Given the description of an element on the screen output the (x, y) to click on. 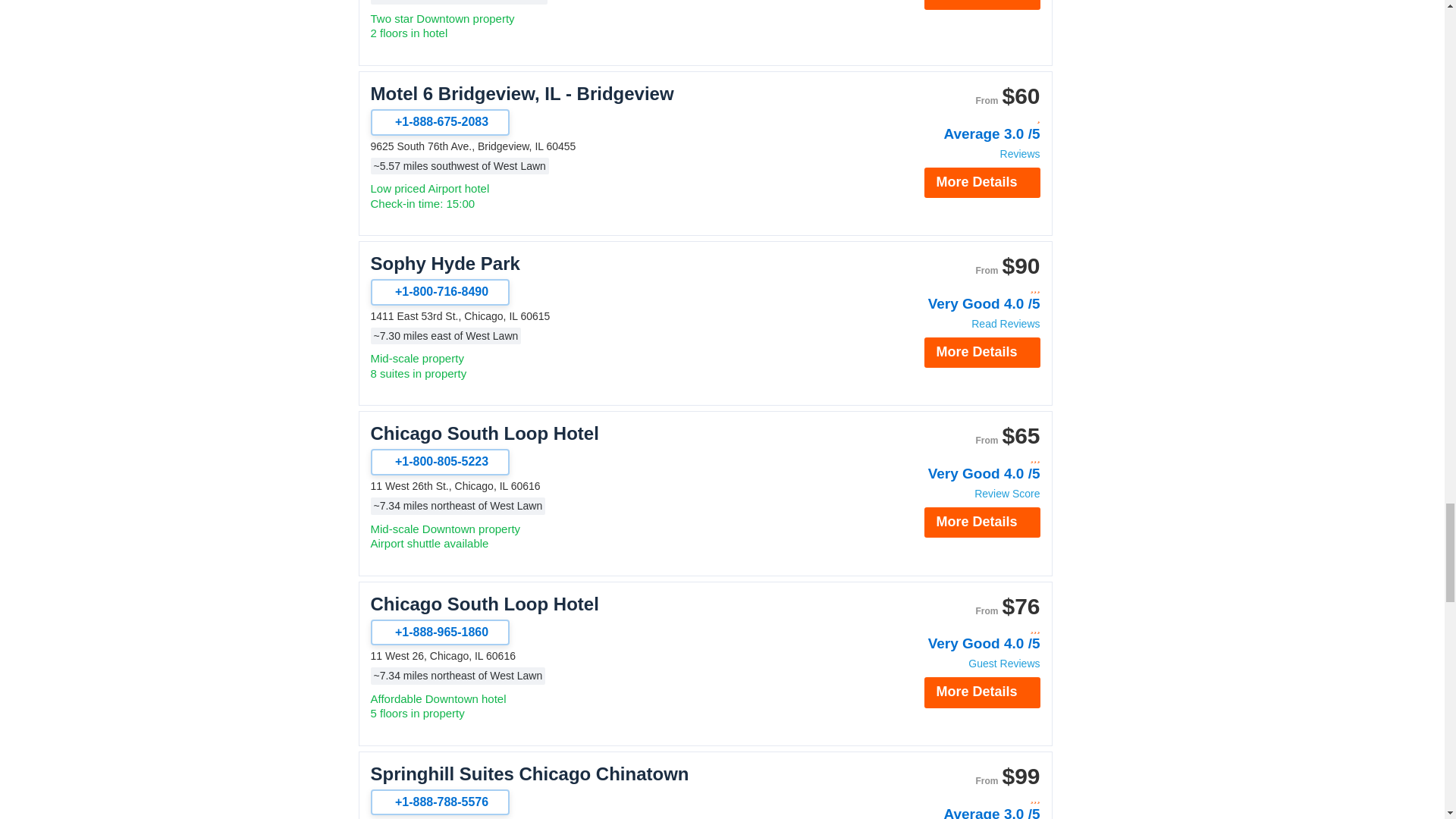
1 stars (958, 118)
3 stars (958, 287)
